Given the description of an element on the screen output the (x, y) to click on. 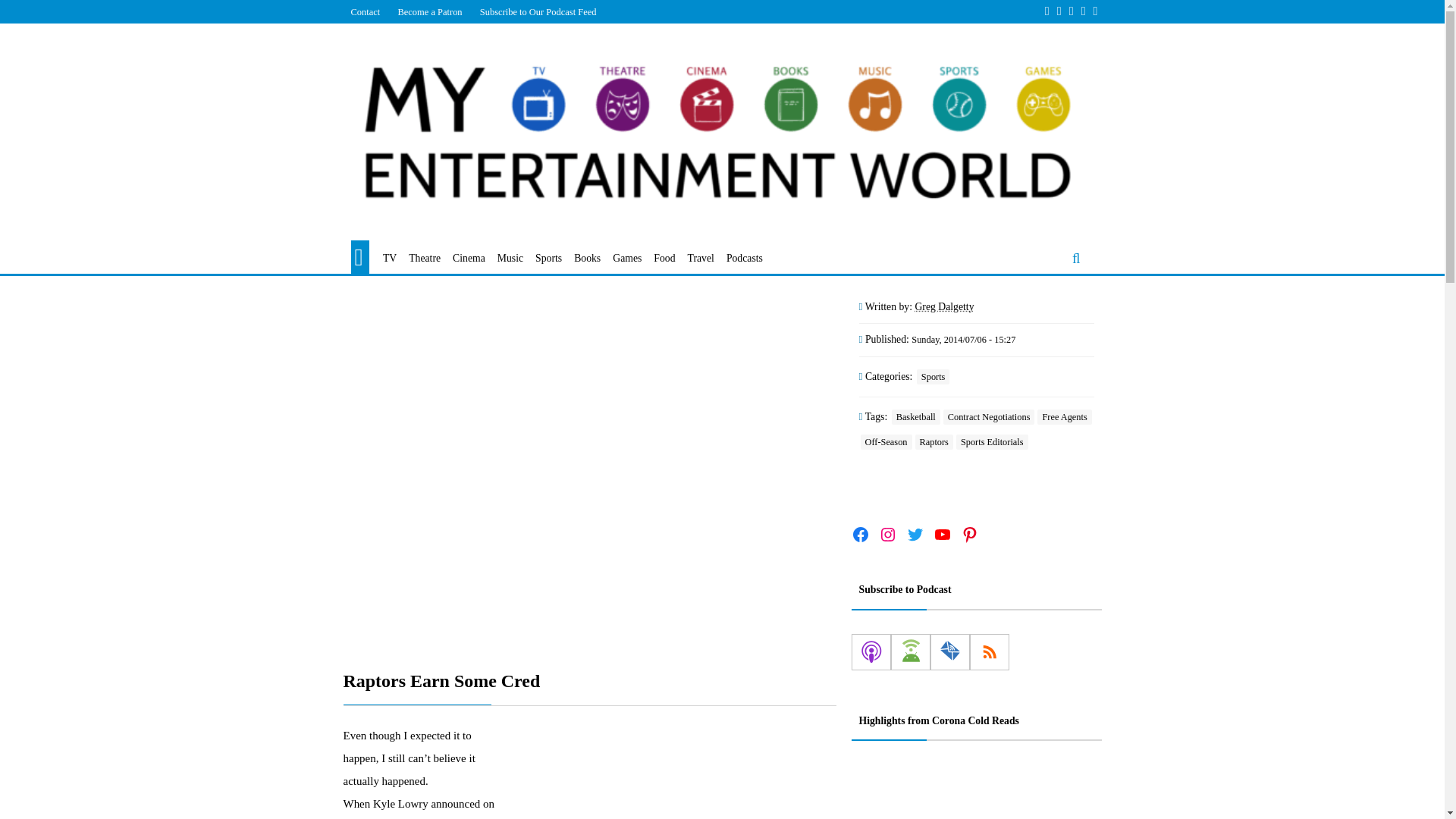
Books (586, 258)
Games (627, 258)
Contact (364, 10)
Music (509, 258)
Travel (700, 258)
Subscribe via RSS (989, 651)
Subscribe by Email (949, 651)
Sports (548, 258)
Theatre (425, 258)
